Given the description of an element on the screen output the (x, y) to click on. 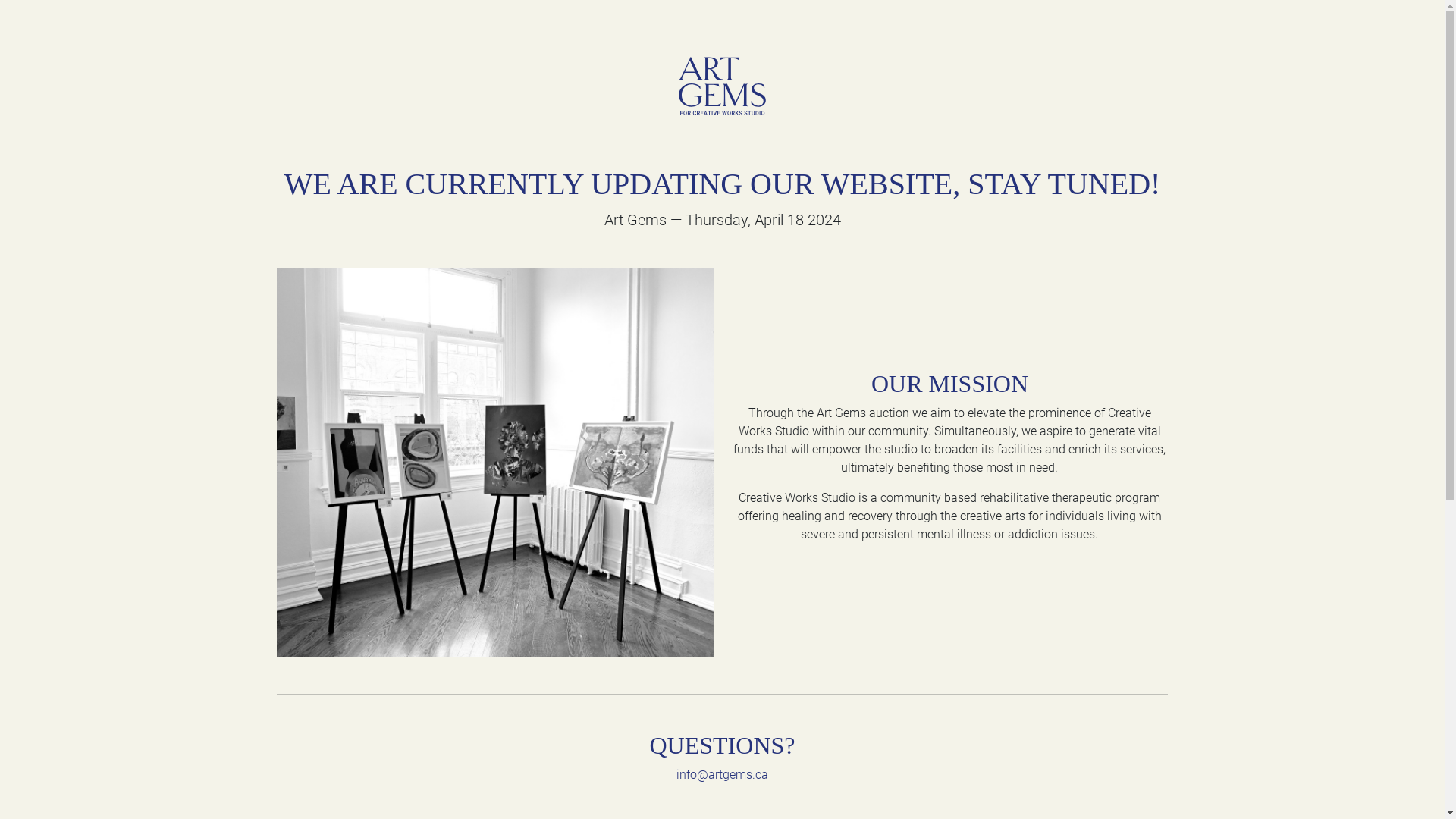
info@artgems.ca Element type: text (722, 774)
